Given the description of an element on the screen output the (x, y) to click on. 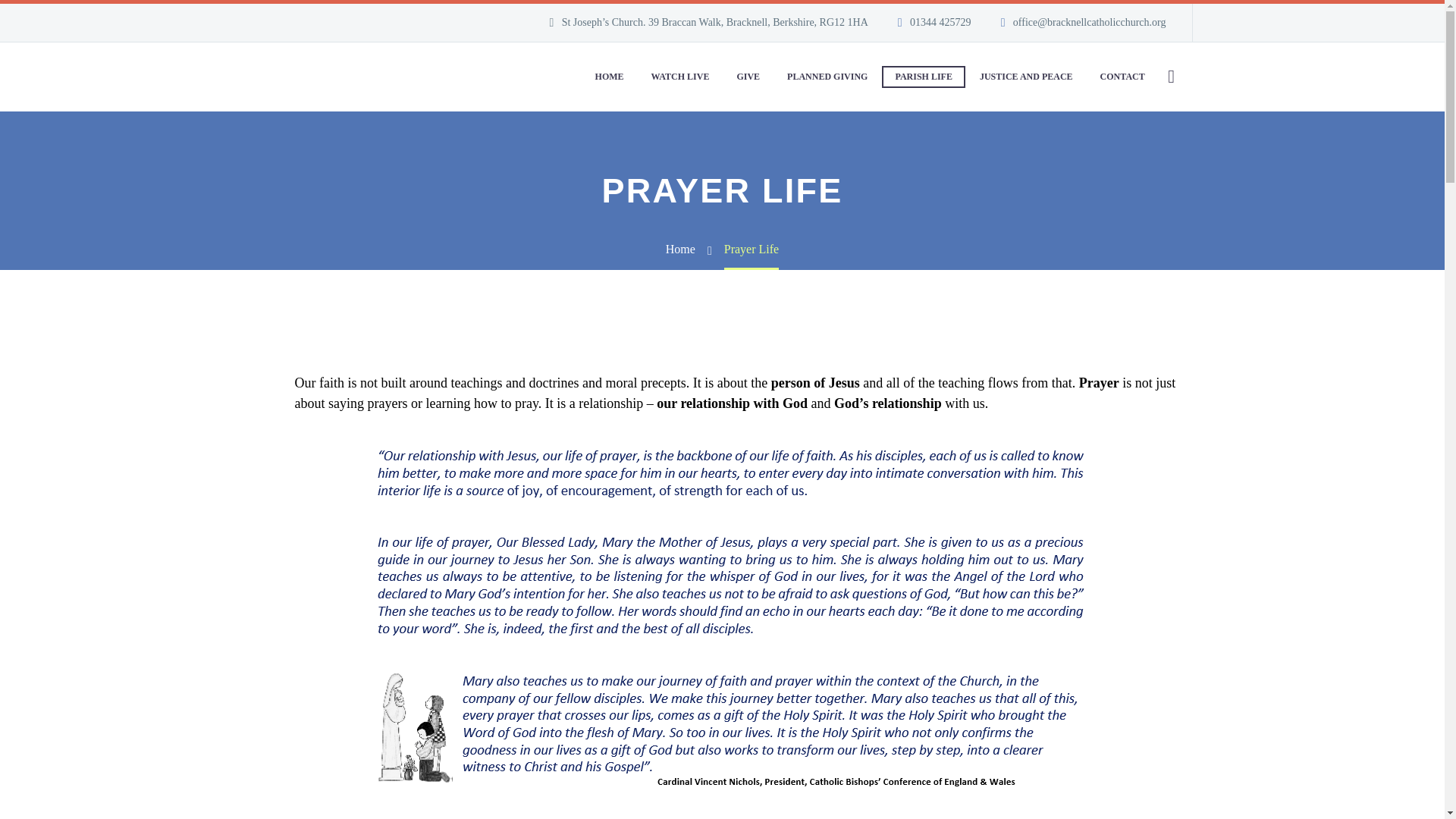
WATCH LIVE (680, 76)
PLANNED GIVING (827, 76)
PARISH LIFE (922, 76)
01344 425729 (940, 21)
GIVE (748, 76)
HOME (608, 76)
